Given the description of an element on the screen output the (x, y) to click on. 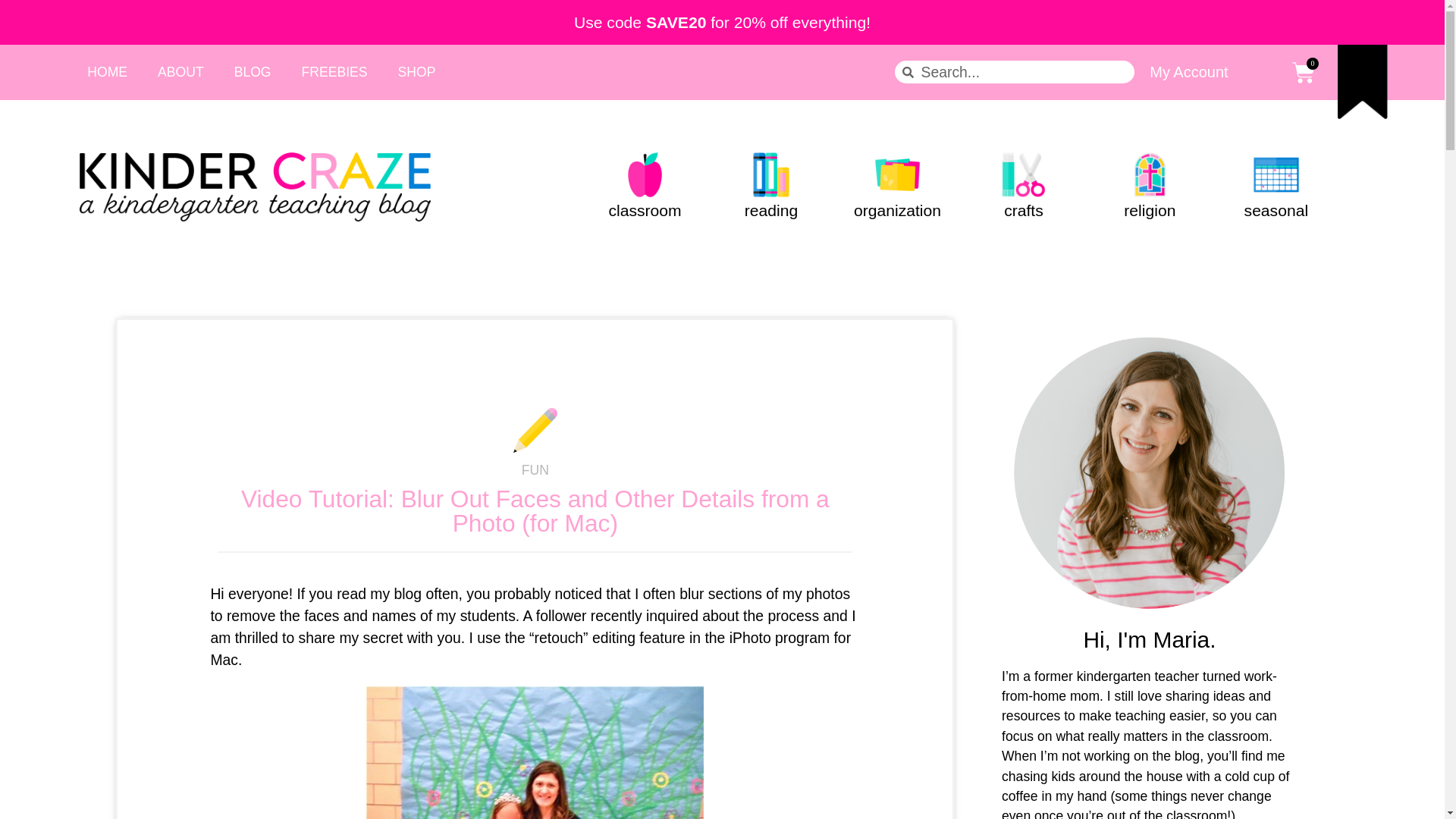
ABOUT (180, 71)
My Account (1188, 71)
HOME (106, 71)
BLOG (252, 71)
SHOP (416, 71)
FREEBIES (334, 71)
